Given the description of an element on the screen output the (x, y) to click on. 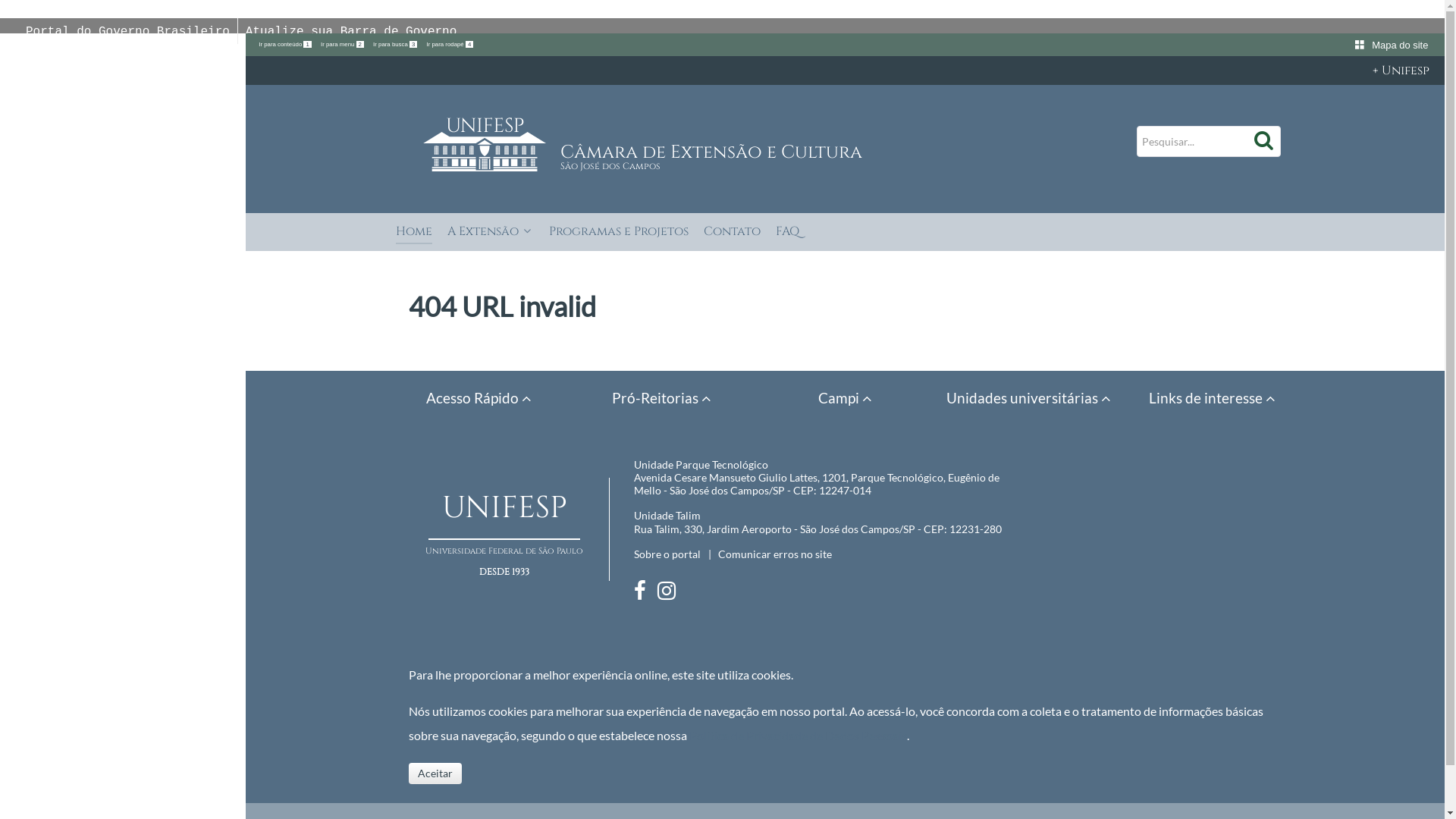
 Mapa do site       Element type: text (1398, 44)
Comunicar erros no site Element type: text (774, 553)
Atualize sua Barra de Governo Element type: text (350, 31)
Portal do Governo Brasileiro Element type: text (127, 31)
Ir para busca 3 Element type: text (395, 43)
Home Element type: text (413, 232)
Programas e Projetos Element type: text (618, 232)
Sobre o portal Element type: text (666, 553)
Ir para menu 2 Element type: text (342, 43)
Contato Element type: text (731, 232)
Politica de Privacidade de Dados Pessoais Element type: text (797, 735)
+ Unifesp Element type: text (844, 70)
FAQ Element type: text (787, 232)
on Element type: text (4, 4)
